Given the description of an element on the screen output the (x, y) to click on. 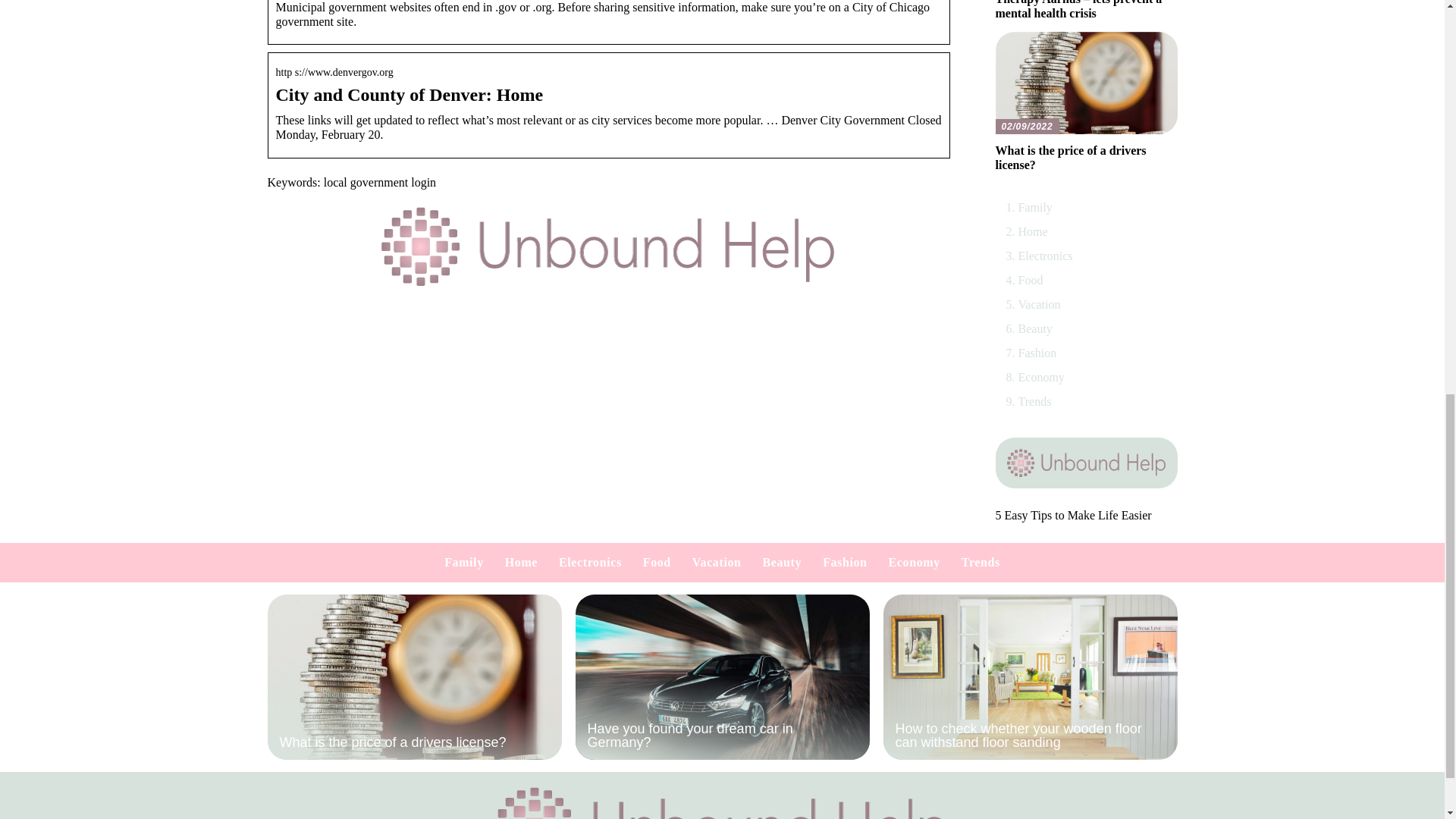
Home (1031, 231)
Home (521, 562)
Vacation (1038, 304)
Fashion (1037, 352)
Beauty (1034, 328)
5 Easy Tips to Make Life Easier (1072, 514)
Electronics (1044, 255)
Family (1034, 206)
Have you found your dream car in Germany? (722, 677)
Beauty (782, 562)
